Given the description of an element on the screen output the (x, y) to click on. 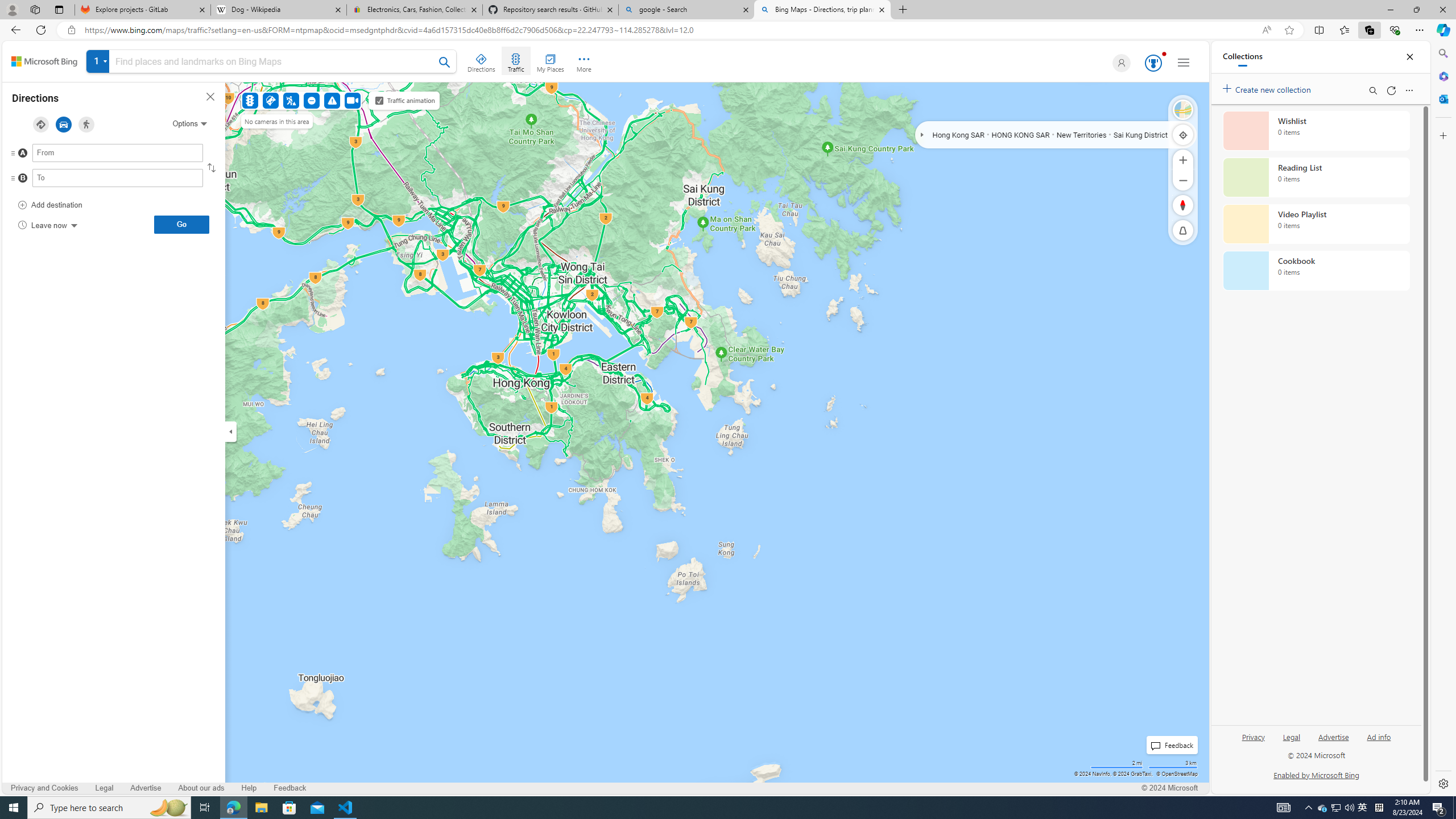
Accidents (270, 100)
Add a search (274, 60)
Help (249, 787)
Locate me (1182, 134)
Settings and more (Alt+F) (1419, 29)
Recommended (41, 124)
Privacy and Cookies (44, 787)
Close tab (881, 9)
Reset to Default Rotation (1182, 204)
Satellite (1182, 109)
Refresh (1390, 90)
Rotate Right (1171, 205)
Drag to reorder (21, 178)
Cookbook collection, 0 items (1316, 270)
Feedback (290, 787)
